Given the description of an element on the screen output the (x, y) to click on. 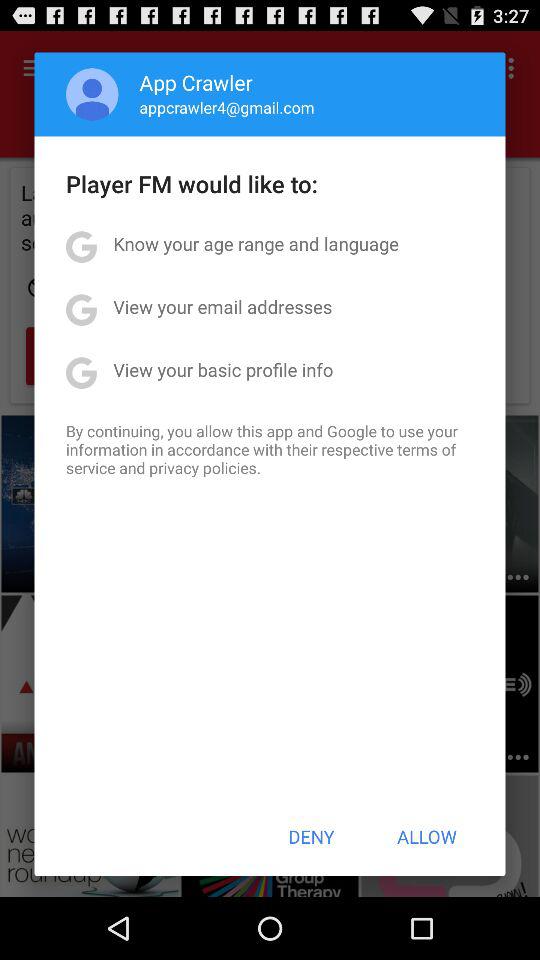
turn on button to the left of allow (311, 836)
